Given the description of an element on the screen output the (x, y) to click on. 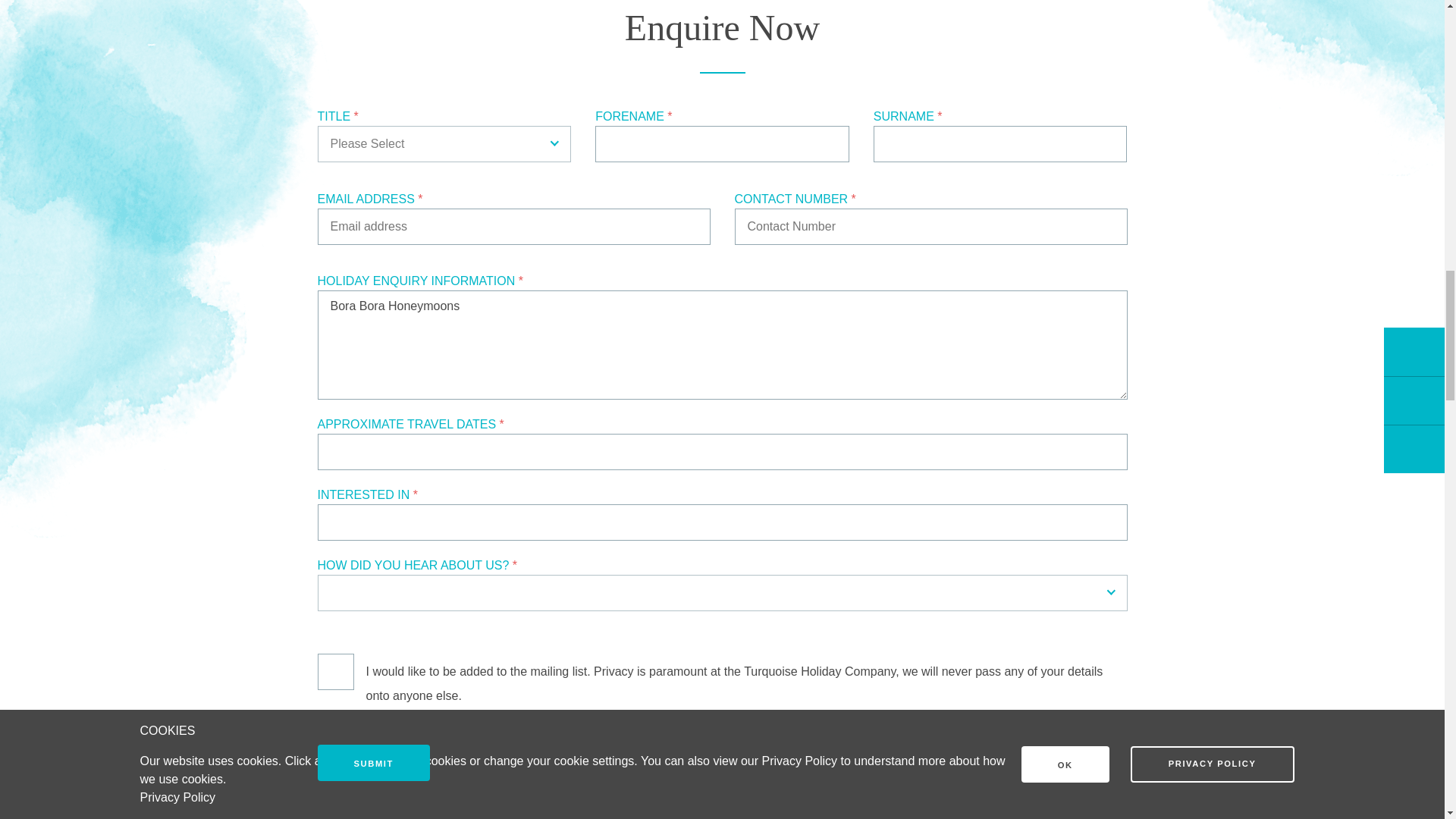
Submit (373, 762)
